Given the description of an element on the screen output the (x, y) to click on. 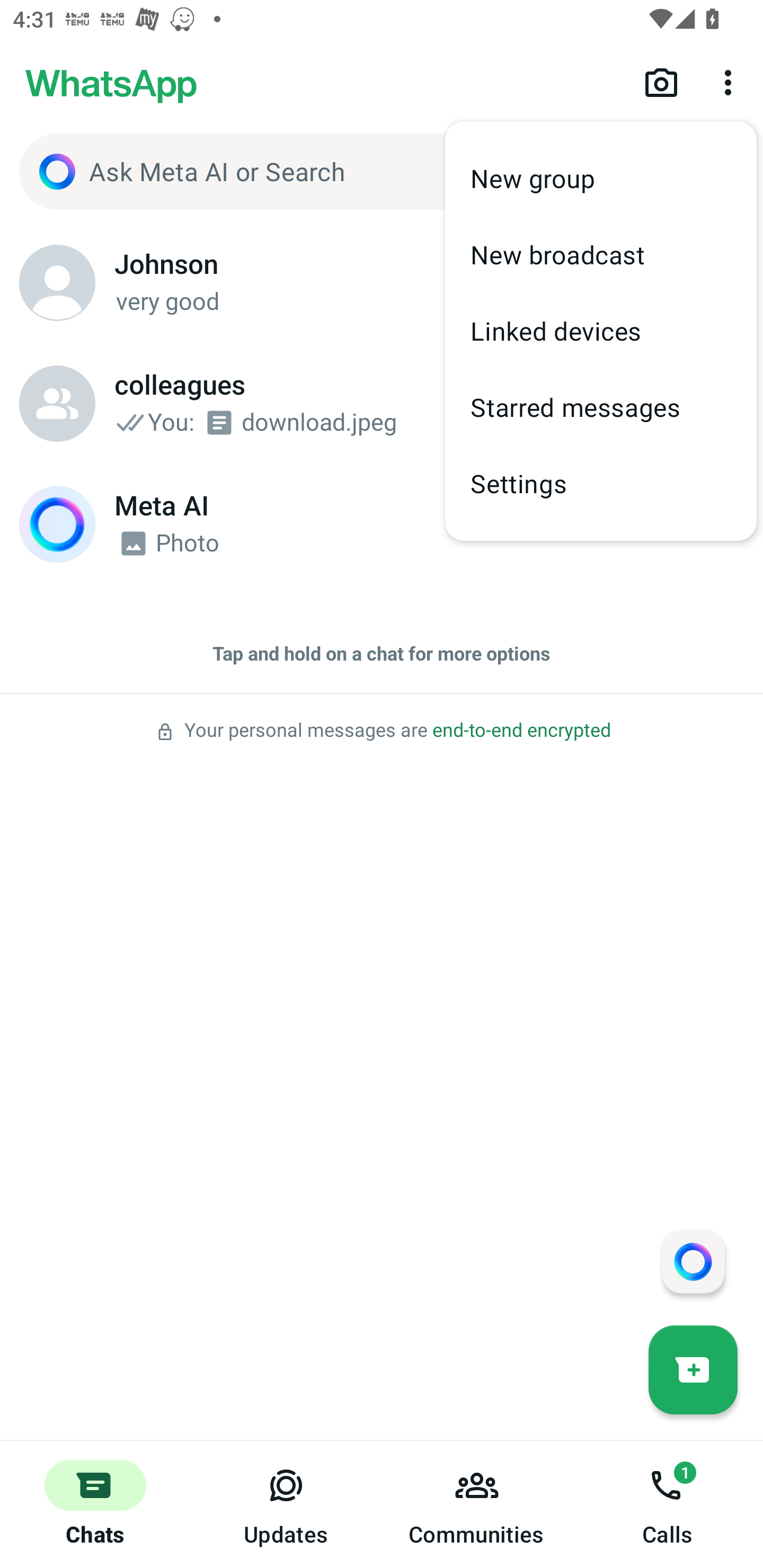
New group (600, 178)
New broadcast (600, 254)
Linked devices (600, 330)
Starred messages (600, 406)
Settings (600, 483)
